Given the description of an element on the screen output the (x, y) to click on. 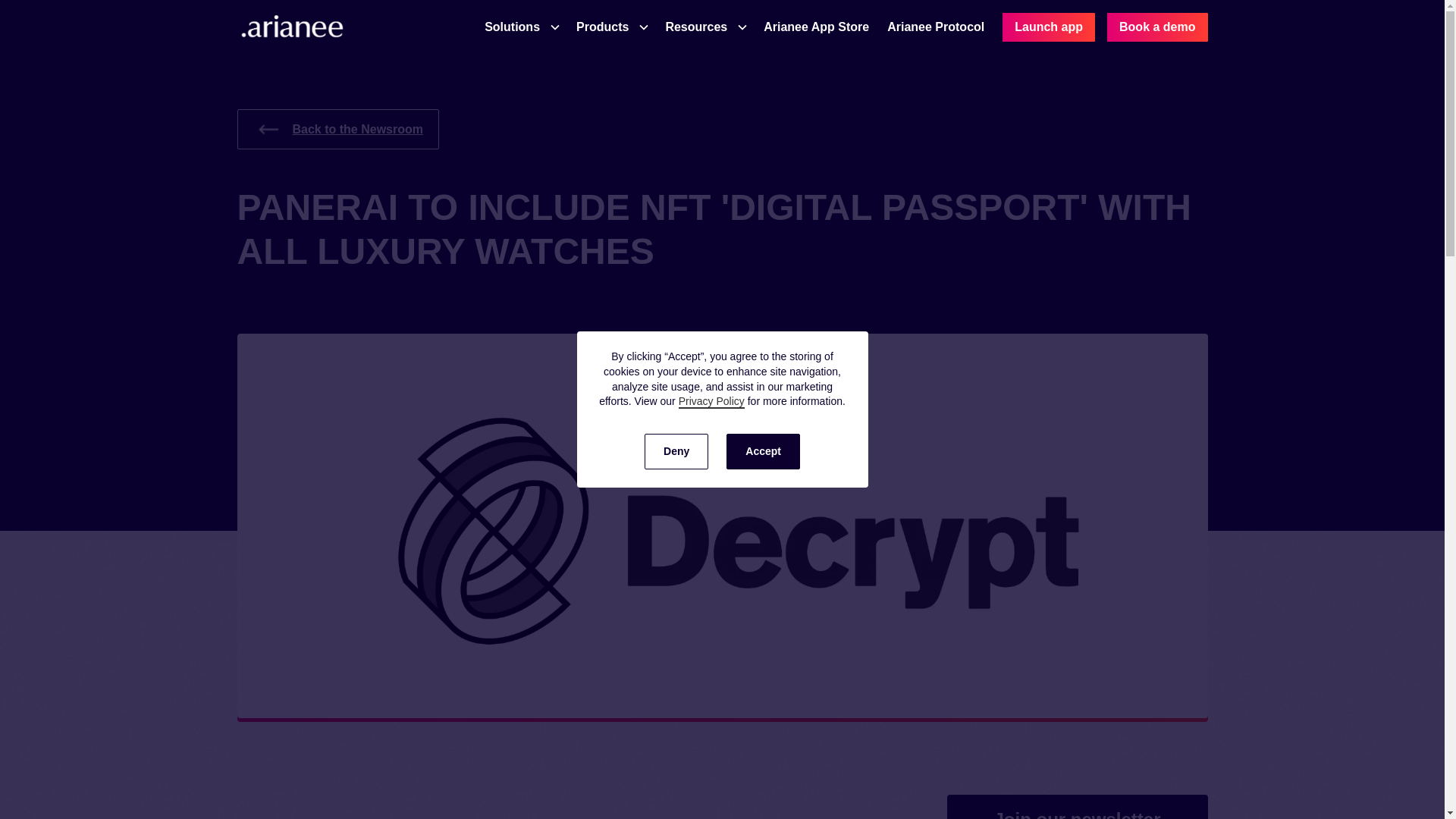
Accept (762, 451)
Deny (676, 451)
Arianee App Store (815, 27)
